Given the description of an element on the screen output the (x, y) to click on. 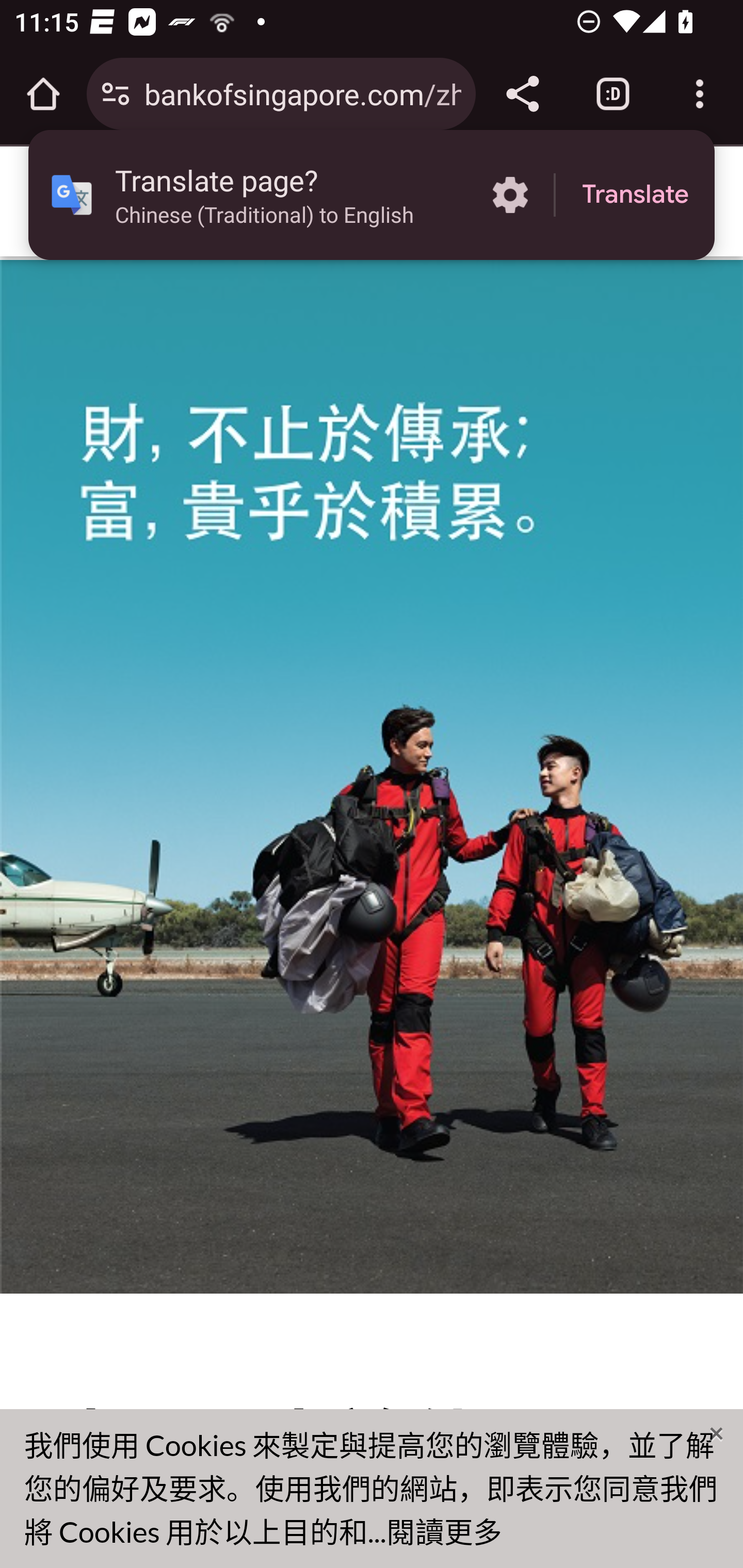
Open the home page (43, 93)
Connection is secure (115, 93)
Share (522, 93)
Switch or close tabs (612, 93)
Customize and control Google Chrome (699, 93)
Translate (634, 195)
More options in the Translate page? (509, 195)
